Given the description of an element on the screen output the (x, y) to click on. 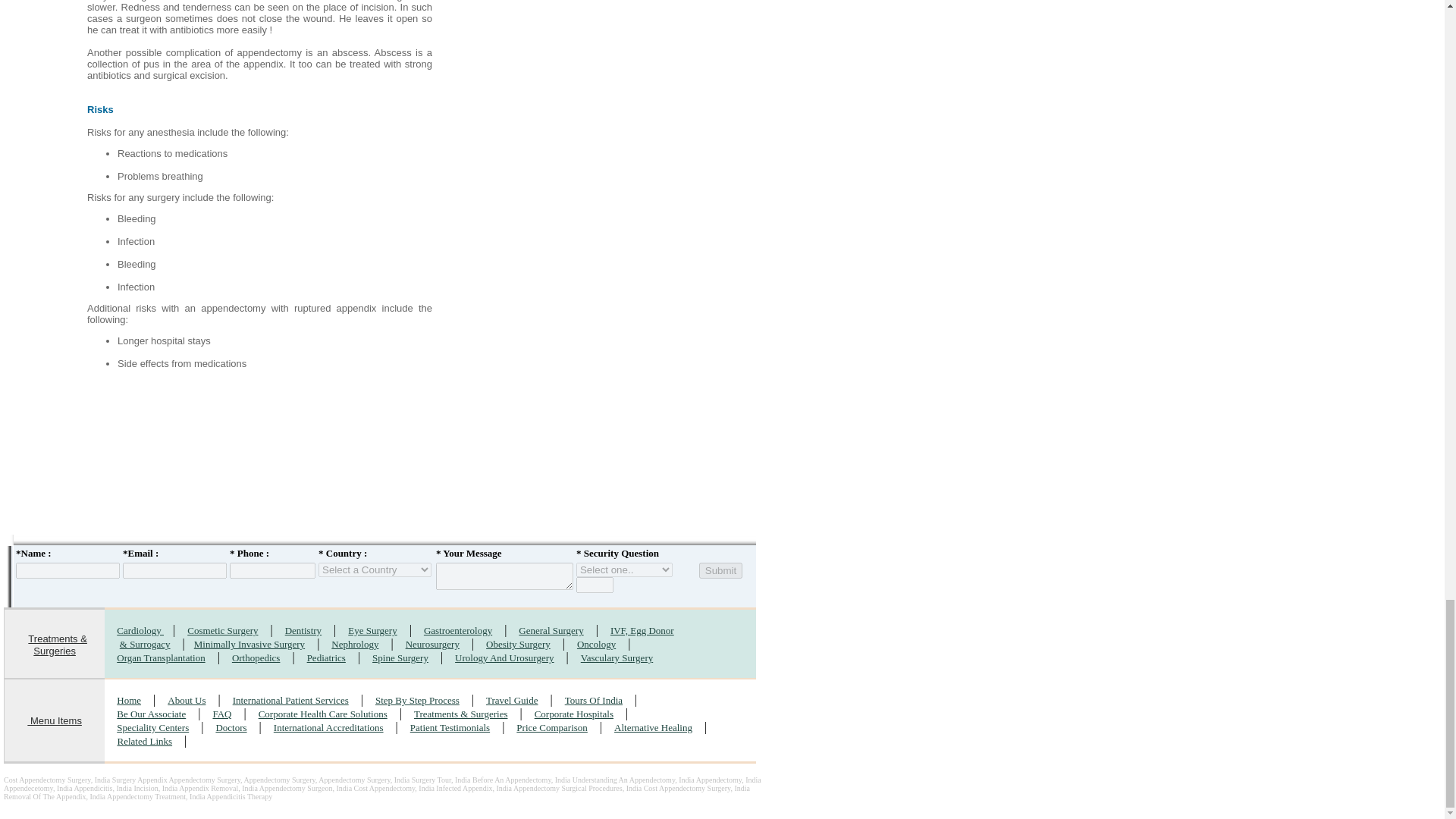
Dentistry (303, 629)
Gastroenterology (457, 629)
Minimally Invasive Surgery (248, 643)
Submit (720, 570)
Cosmetic Surgery (222, 629)
Submit (720, 570)
General Surgery (550, 629)
Nephrology (354, 643)
Cardiology (139, 629)
Eye Surgery (371, 629)
